Given the description of an element on the screen output the (x, y) to click on. 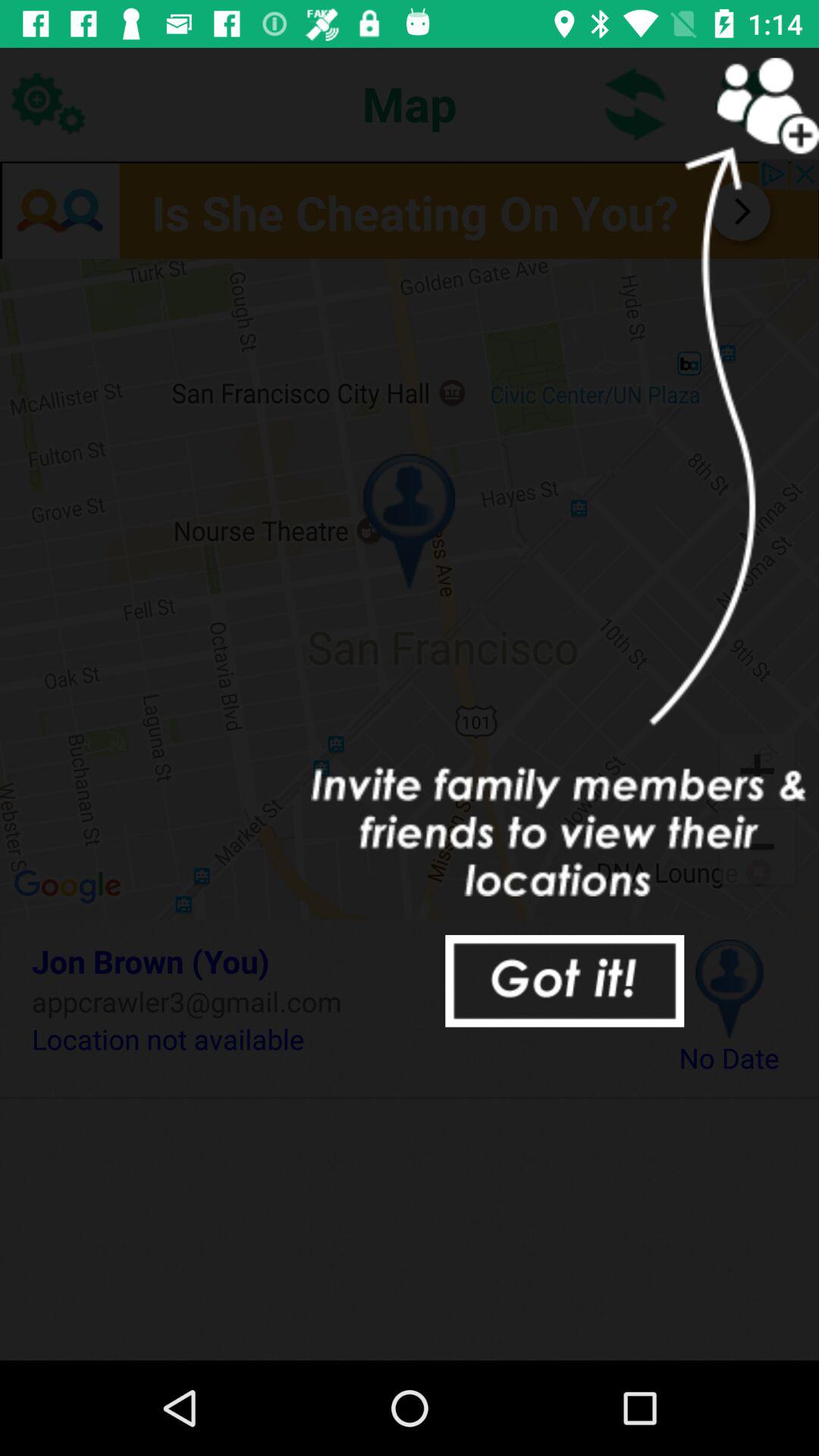
tap icon above the no date item (729, 989)
